Given the description of an element on the screen output the (x, y) to click on. 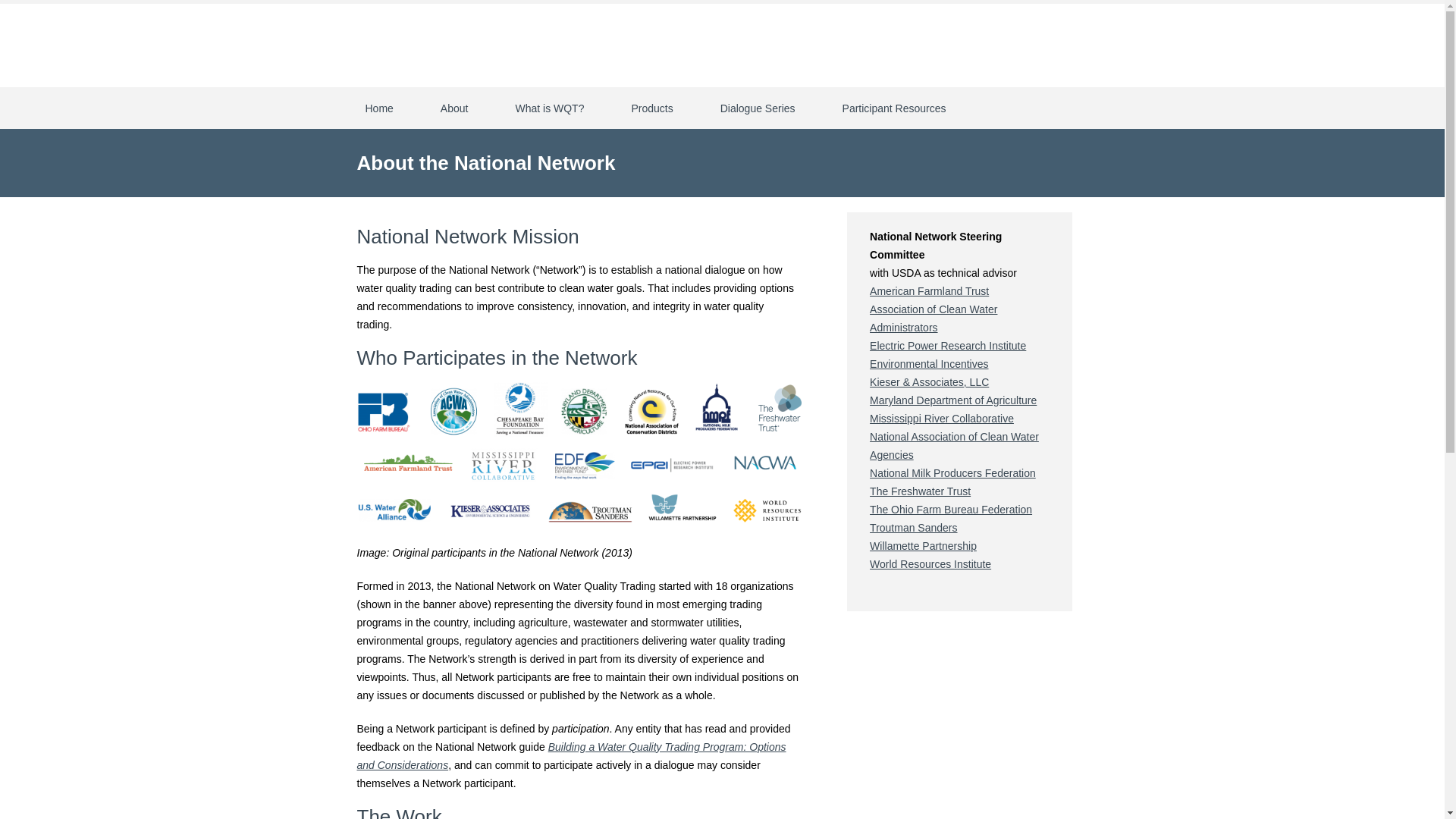
Home (378, 107)
Troutman Sanders (912, 527)
Products (652, 107)
The Freshwater Trust (920, 491)
World Resources Institute (930, 563)
Environmental Incentives (928, 363)
National Milk Producers Federation (952, 472)
About (454, 107)
The Ohio Farm Bureau Federation (950, 509)
Mississippi River Collaborative (941, 418)
Maryland Department of Agriculture (952, 399)
Electric Power Research Institute (947, 345)
Dialogue Series (757, 107)
National Association of Clean Water Agencies (954, 445)
